Given the description of an element on the screen output the (x, y) to click on. 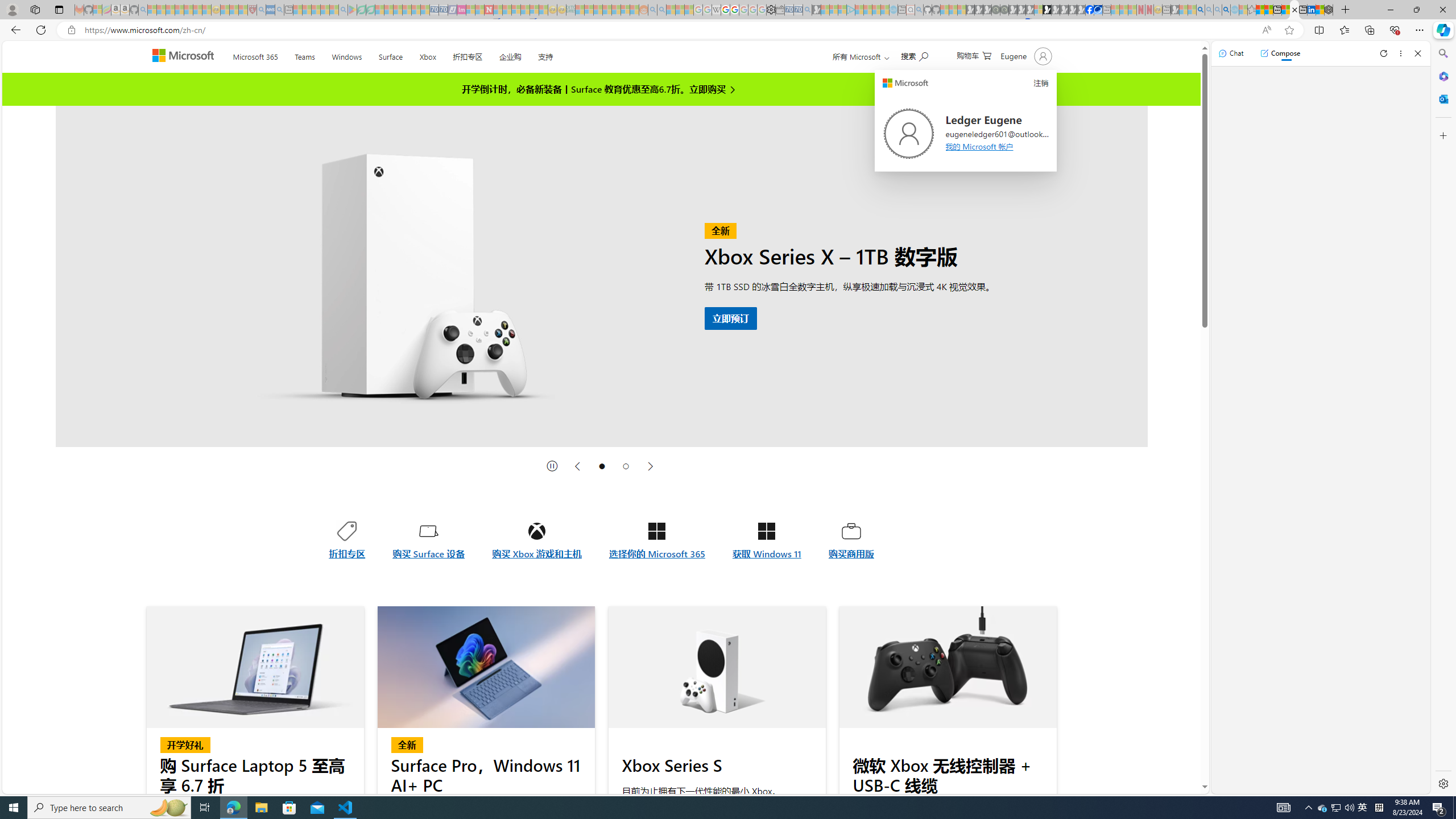
Terms of Use Agreement - Sleeping (361, 9)
Settings and more (Alt+F) (1419, 29)
Microsoft account | Privacy - Sleeping (841, 9)
Close (1417, 53)
New Tab (1346, 9)
Aberdeen, Hong Kong SAR weather forecast | Microsoft Weather (1268, 9)
A pair of Xbox Wireless Controllers with USB-C Cable. (947, 667)
14 Common Myths Debunked By Scientific Facts - Sleeping (506, 9)
